Given the description of an element on the screen output the (x, y) to click on. 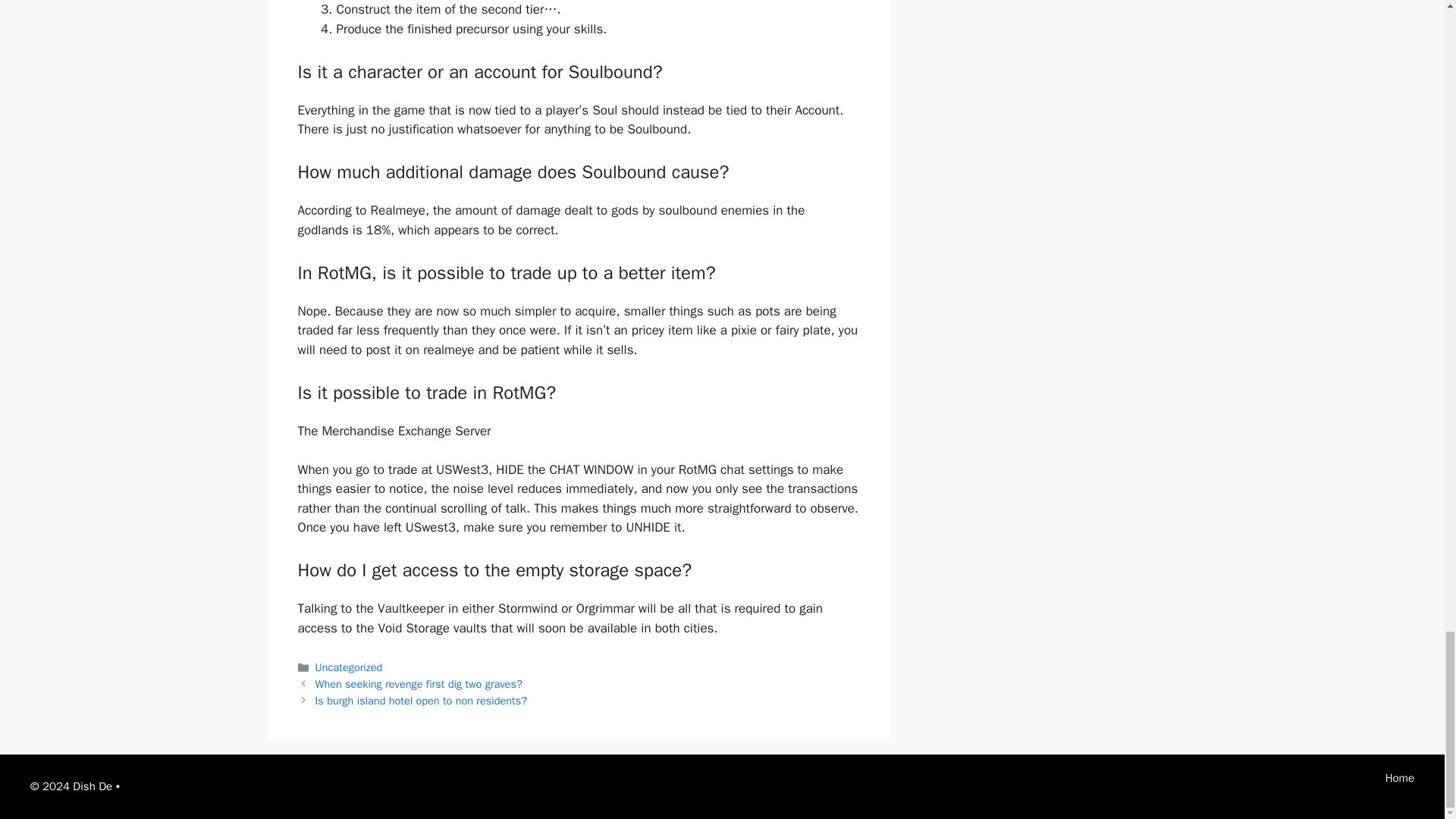
Is burgh island hotel open to non residents? (421, 700)
Previous (418, 684)
Uncategorized (348, 667)
Next (421, 700)
When seeking revenge first dig two graves? (418, 684)
Home (1399, 777)
